Given the description of an element on the screen output the (x, y) to click on. 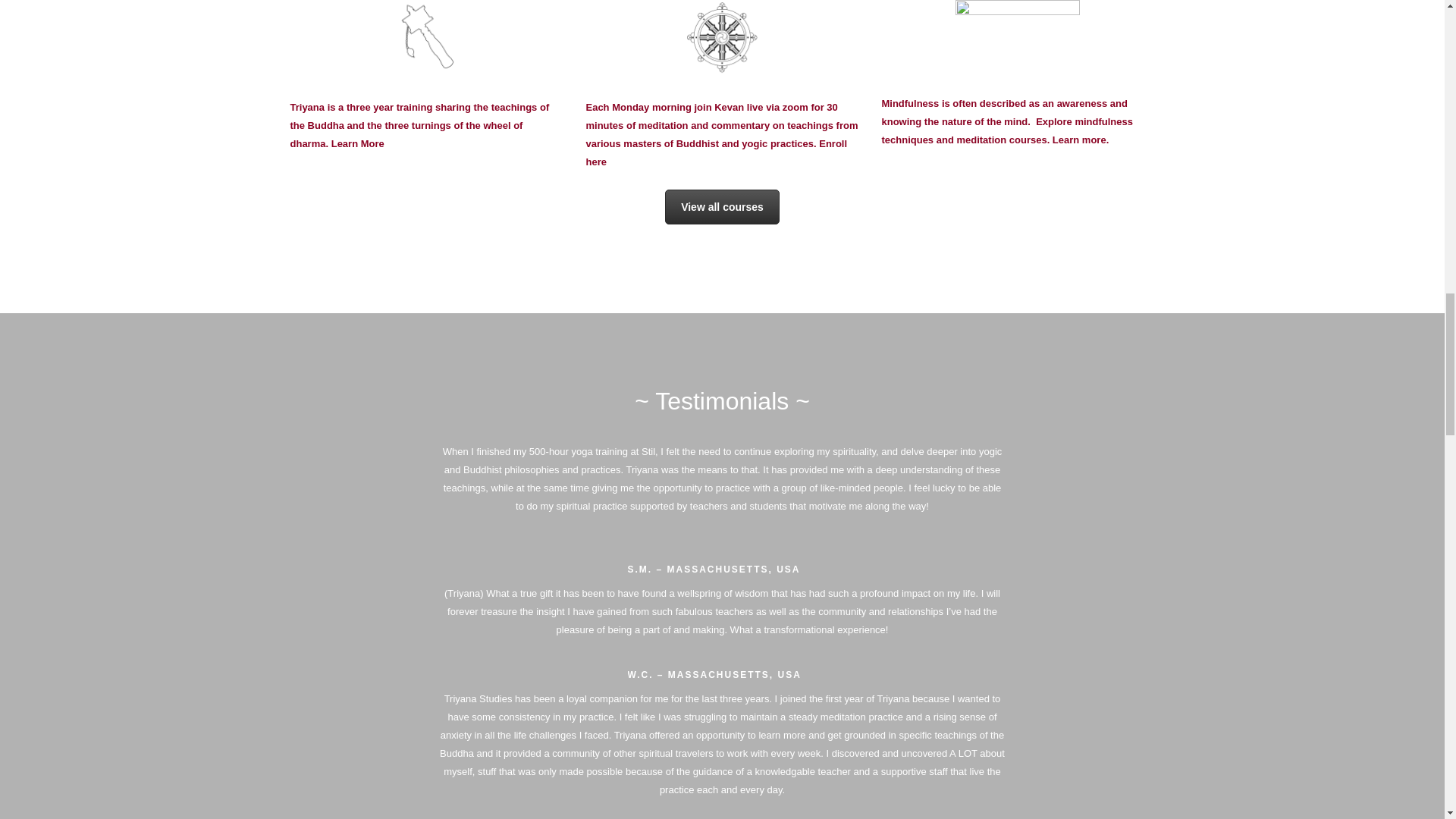
WEEKLY ZOOM TEACHINGS (722, 39)
MINDFULNESS (1017, 38)
Enroll here (716, 152)
Learn More (357, 143)
TRIYANA (425, 39)
Learn more.  (1082, 139)
View all courses (721, 206)
